Given the description of an element on the screen output the (x, y) to click on. 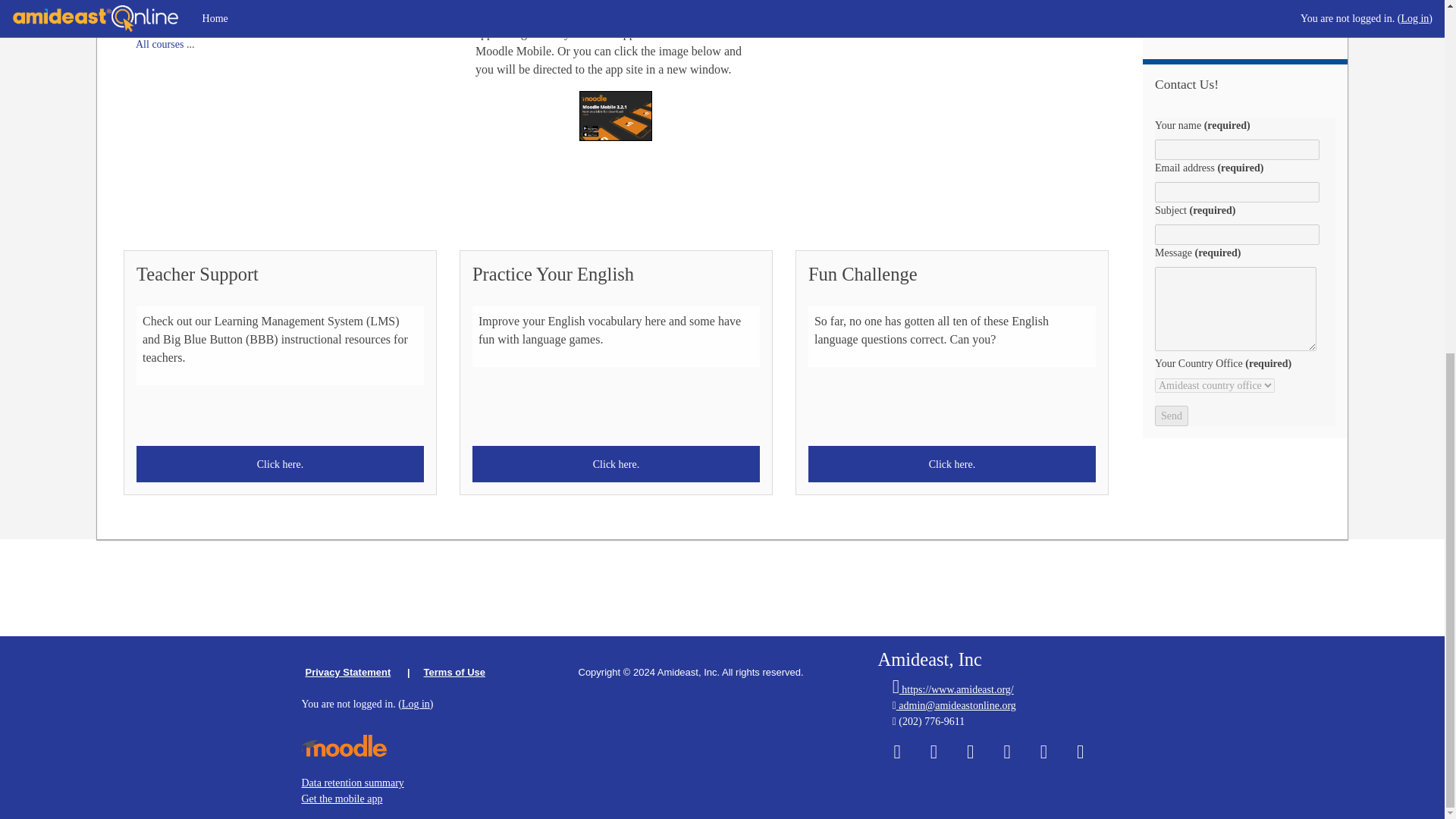
Click here. (952, 463)
Moodle (344, 745)
Amideast on youtube, opens in new window (1043, 756)
Amideast on linkedin, opens in new window (1007, 753)
Amideast on twitter, opens in new window (933, 756)
Amideast on twitter, opens in new window (933, 753)
Amideast on google-plus, opens in new window (970, 753)
Amideast on Amideast, opens in new window (1079, 756)
Click here. (615, 463)
Course (141, 24)
Send (1171, 415)
Data retention summary (352, 782)
Amideast on facebook, opens in new window (897, 756)
Terms of Use (453, 672)
All courses (159, 43)
